Given the description of an element on the screen output the (x, y) to click on. 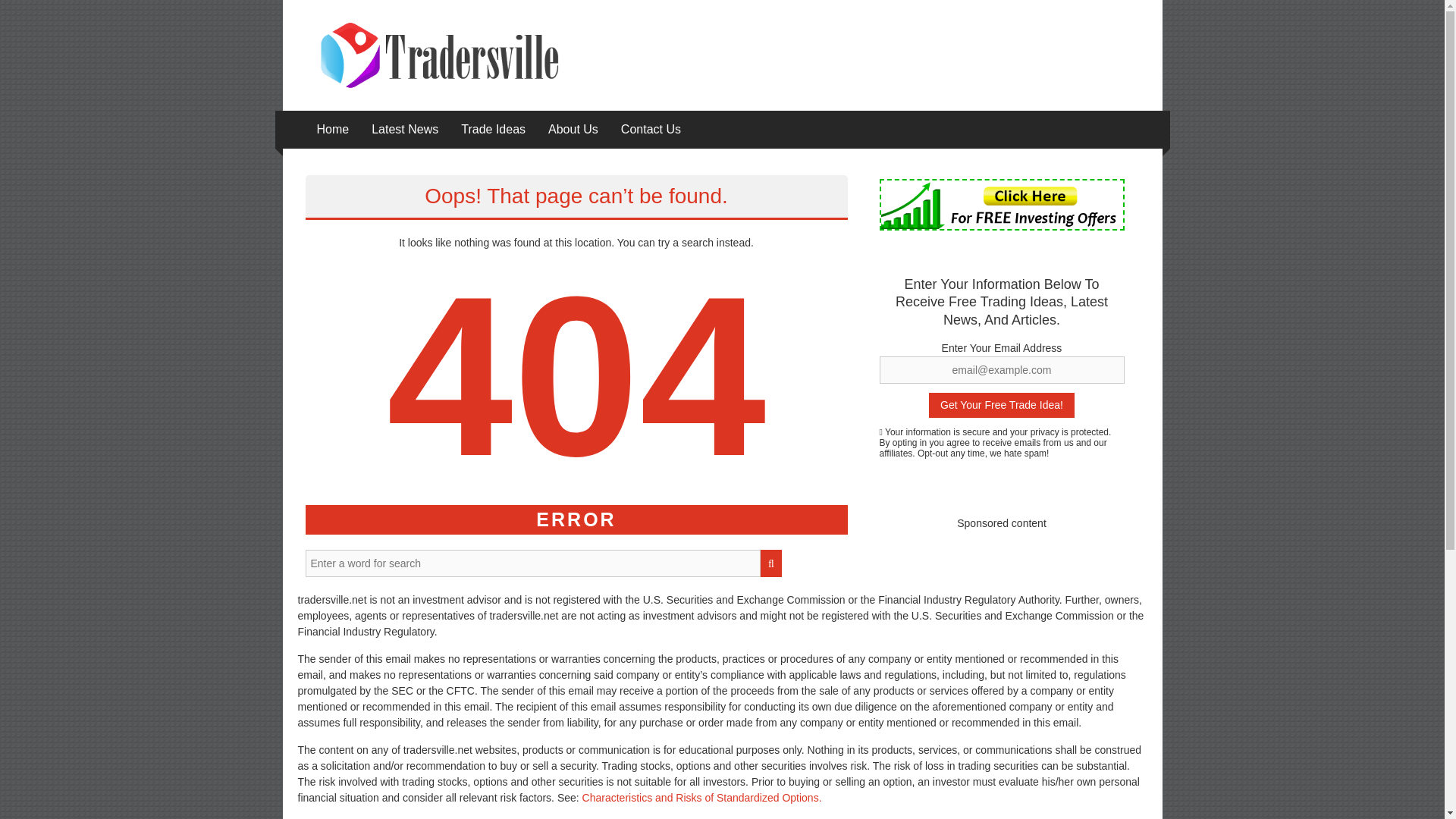
Trade Ideas (493, 129)
About Us (573, 129)
Latest News (404, 129)
Get Your Free Trade Idea! (1001, 405)
Contact Us (651, 129)
Characteristics and Risks of Standardized Options. (702, 797)
